Given the description of an element on the screen output the (x, y) to click on. 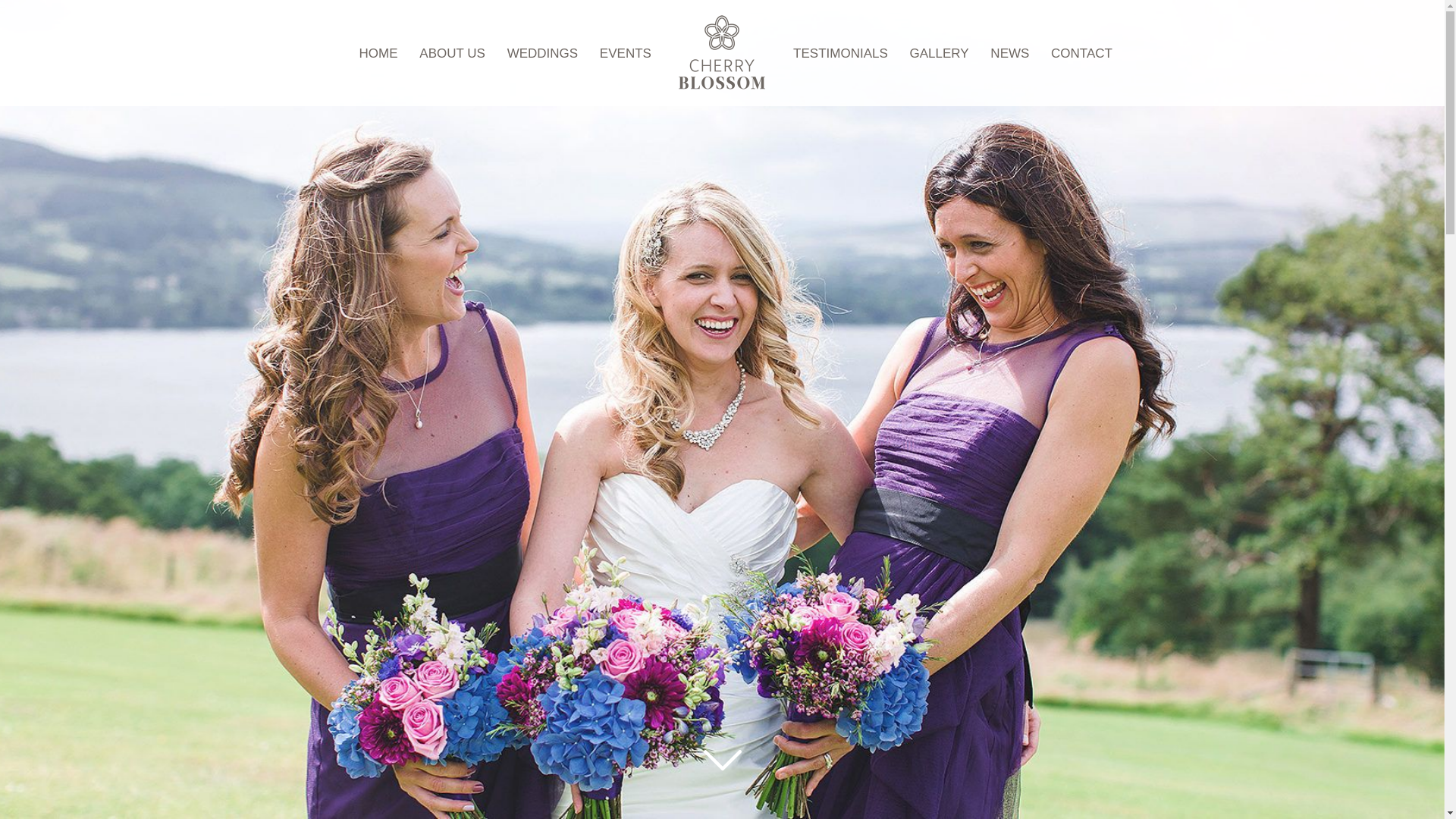
HOME (378, 52)
NEWS (1009, 52)
TESTIMONIALS (840, 52)
CONTACT (1081, 52)
WEDDINGS (542, 52)
EVENTS (624, 52)
Cherry Blossom: Wedding Florist (721, 52)
GALLERY (939, 52)
ABOUT US (451, 52)
